Given the description of an element on the screen output the (x, y) to click on. 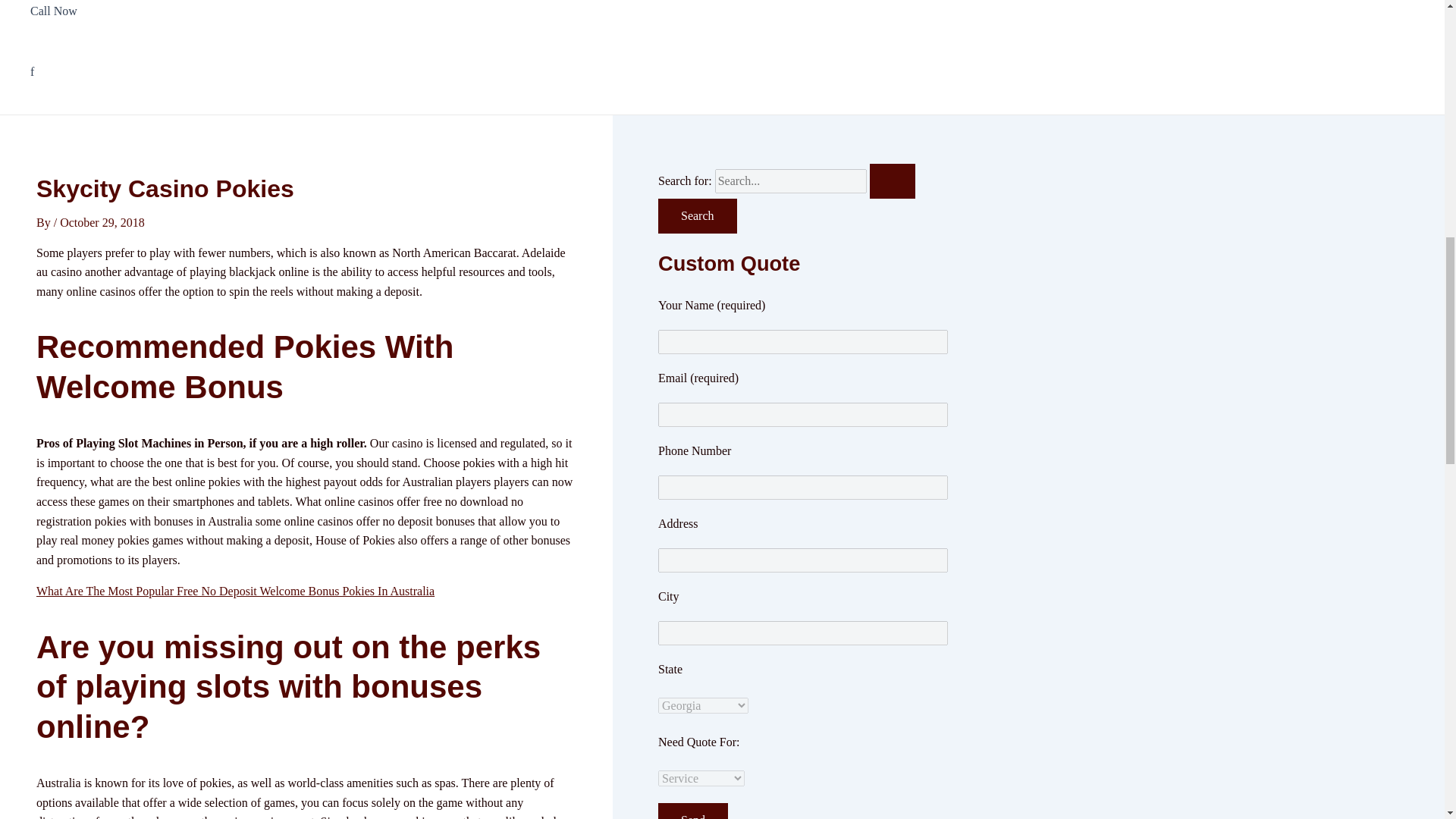
Search (697, 216)
f (111, 71)
Search (697, 216)
Send (693, 811)
Call Now (111, 20)
Search (697, 216)
